Given the description of an element on the screen output the (x, y) to click on. 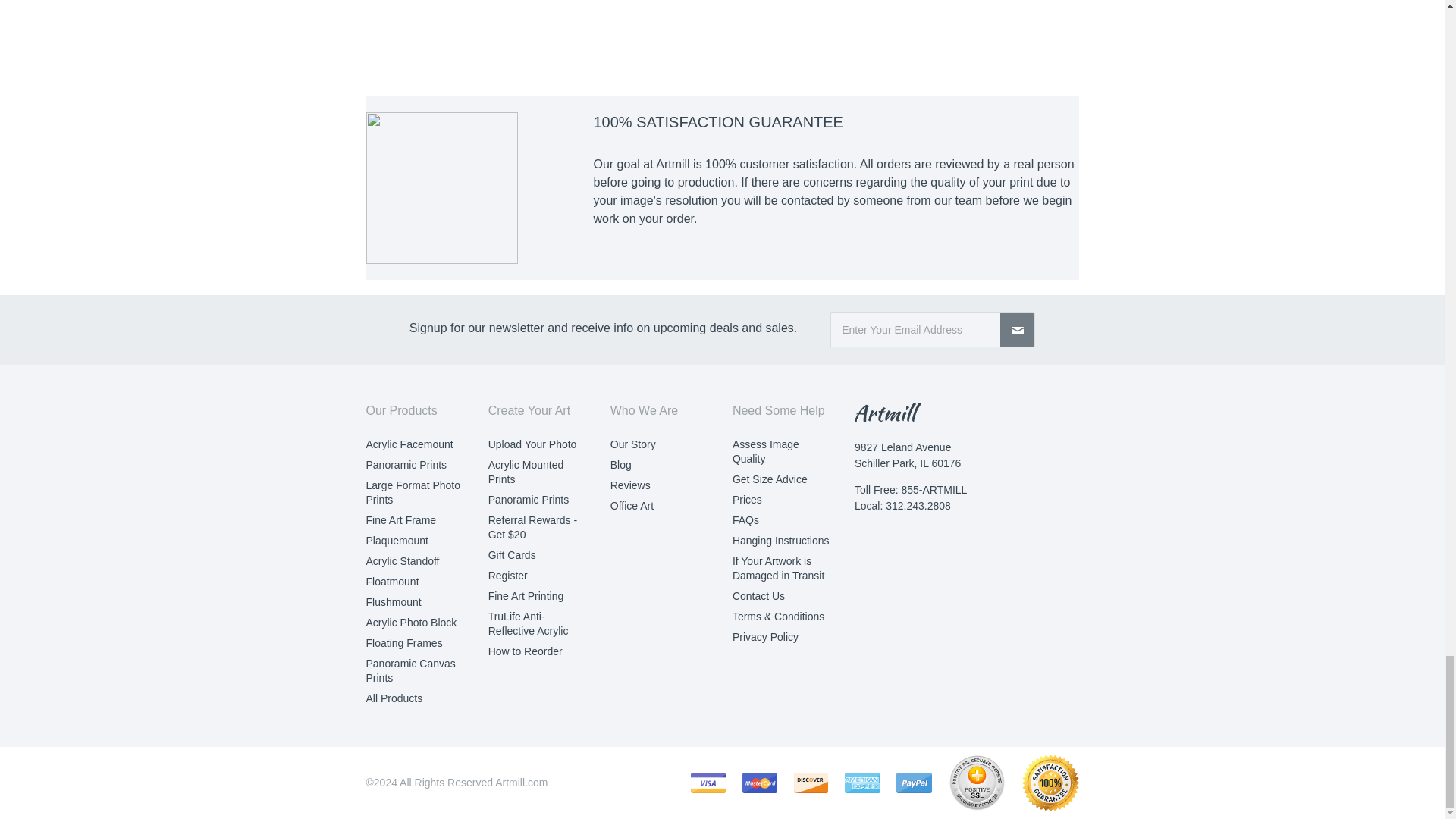
Acrylic Facemount (408, 444)
Submit (1017, 329)
Submit (1017, 329)
